Given the description of an element on the screen output the (x, y) to click on. 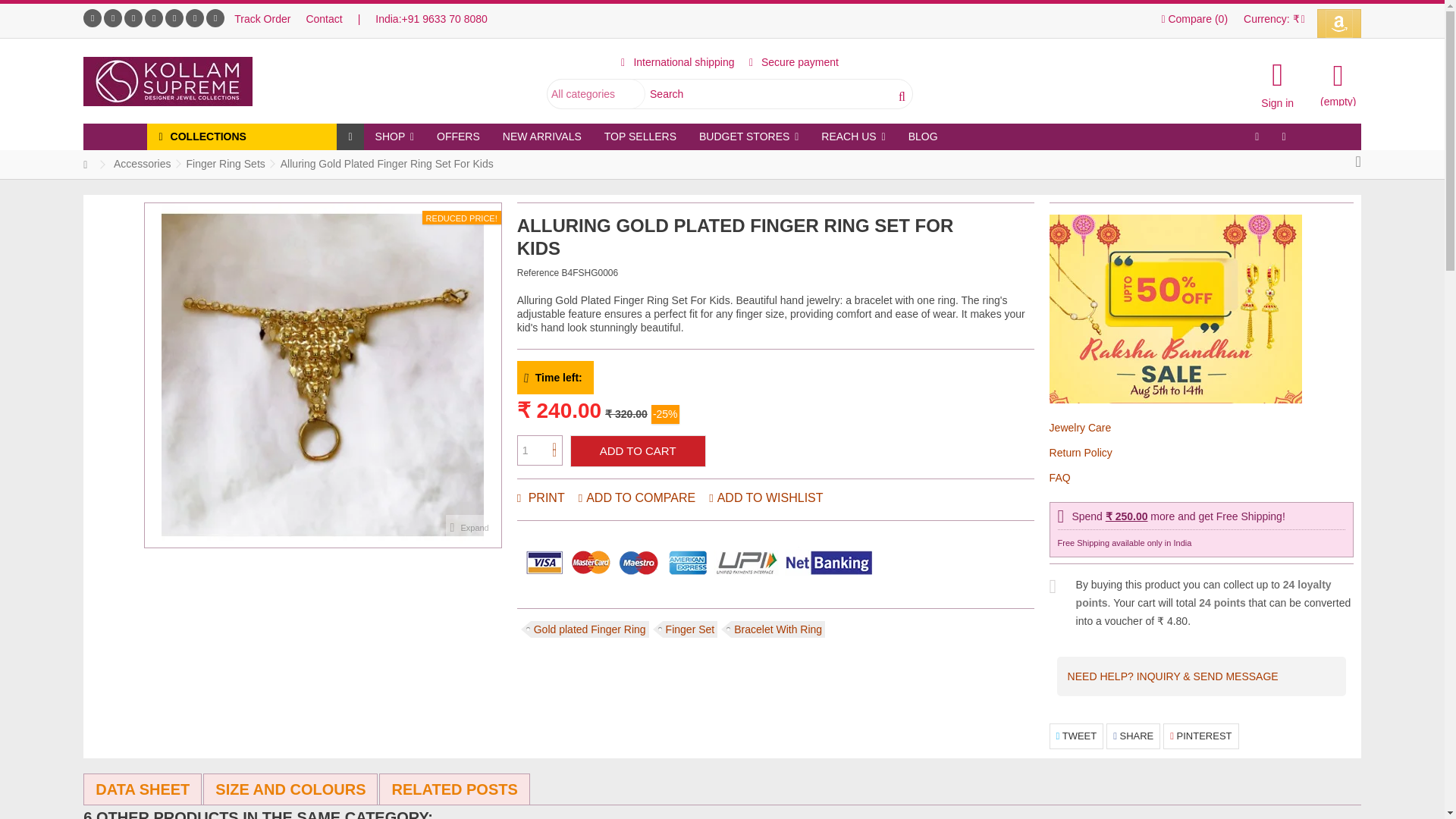
Track Order (261, 19)
Youtube (132, 18)
Contact (323, 19)
Facebook (91, 18)
View my shopping cart (1337, 82)
Twitter (112, 18)
Tumblr (194, 18)
Sign in with Amazon (1339, 23)
1 (539, 450)
RSS (215, 18)
